Given the description of an element on the screen output the (x, y) to click on. 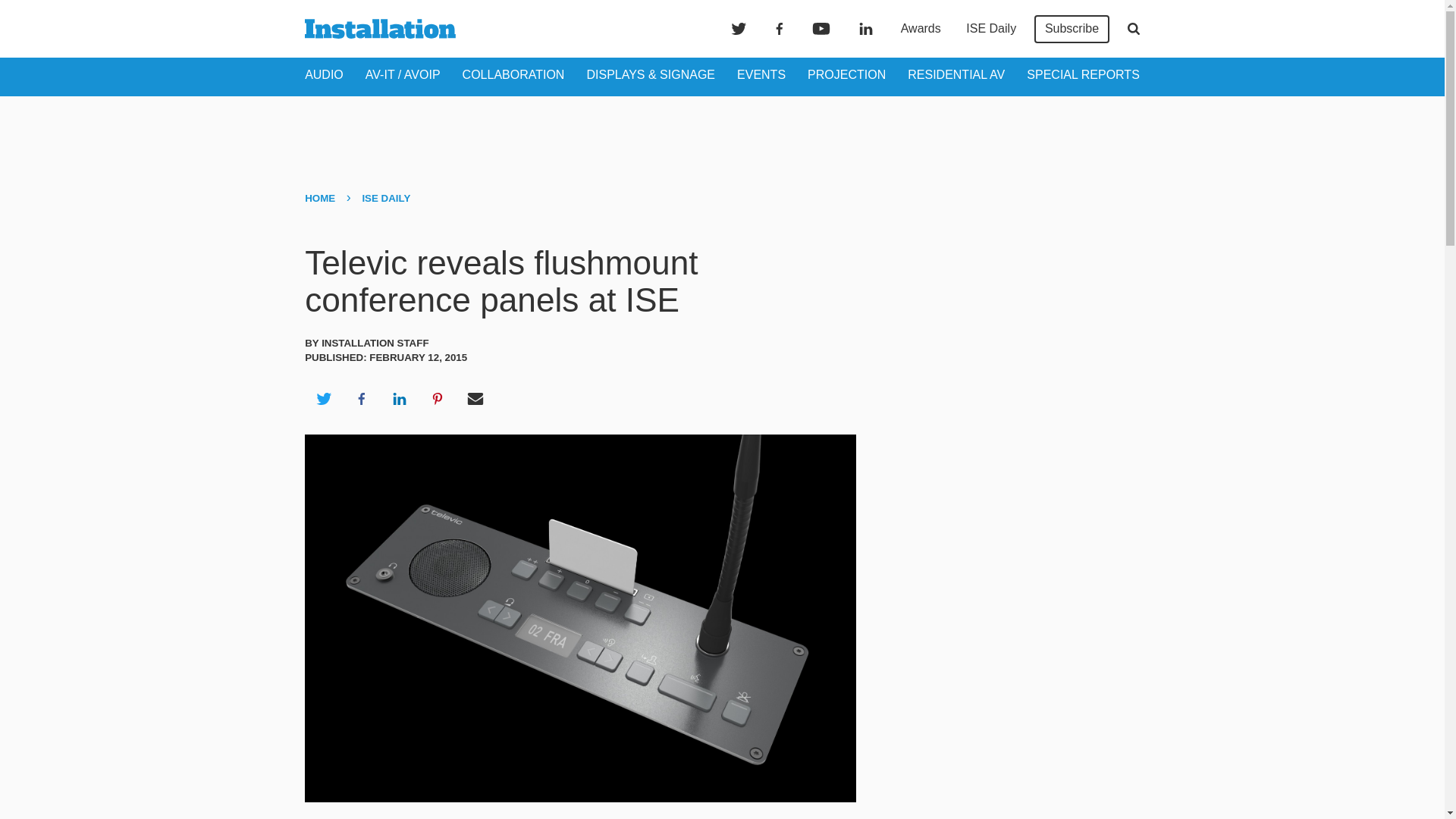
Share on LinkedIn (399, 398)
Share on Pinterest (438, 398)
AUDIO (323, 74)
COLLABORATION (513, 74)
Installation Staff's Author Profile (374, 342)
Subscribe (1071, 29)
Share on Facebook (361, 398)
Awards (921, 29)
Share via Email (476, 398)
Share on Twitter (323, 398)
